Given the description of an element on the screen output the (x, y) to click on. 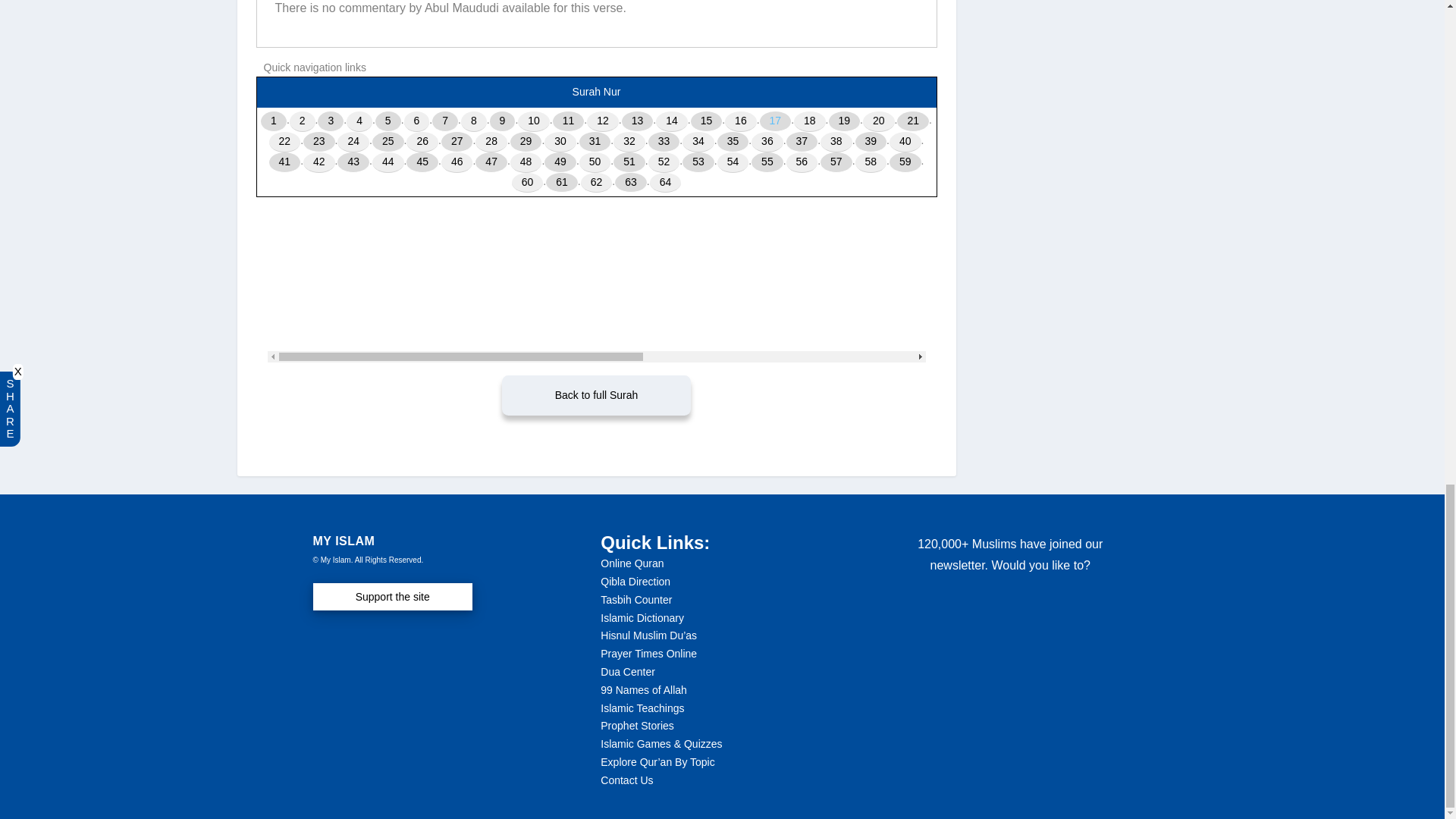
10 (534, 121)
7 (445, 121)
8 (473, 121)
5 (388, 121)
9 (502, 121)
3 (330, 121)
6 (416, 121)
1 (273, 121)
11 (569, 121)
2 (302, 121)
